Given the description of an element on the screen output the (x, y) to click on. 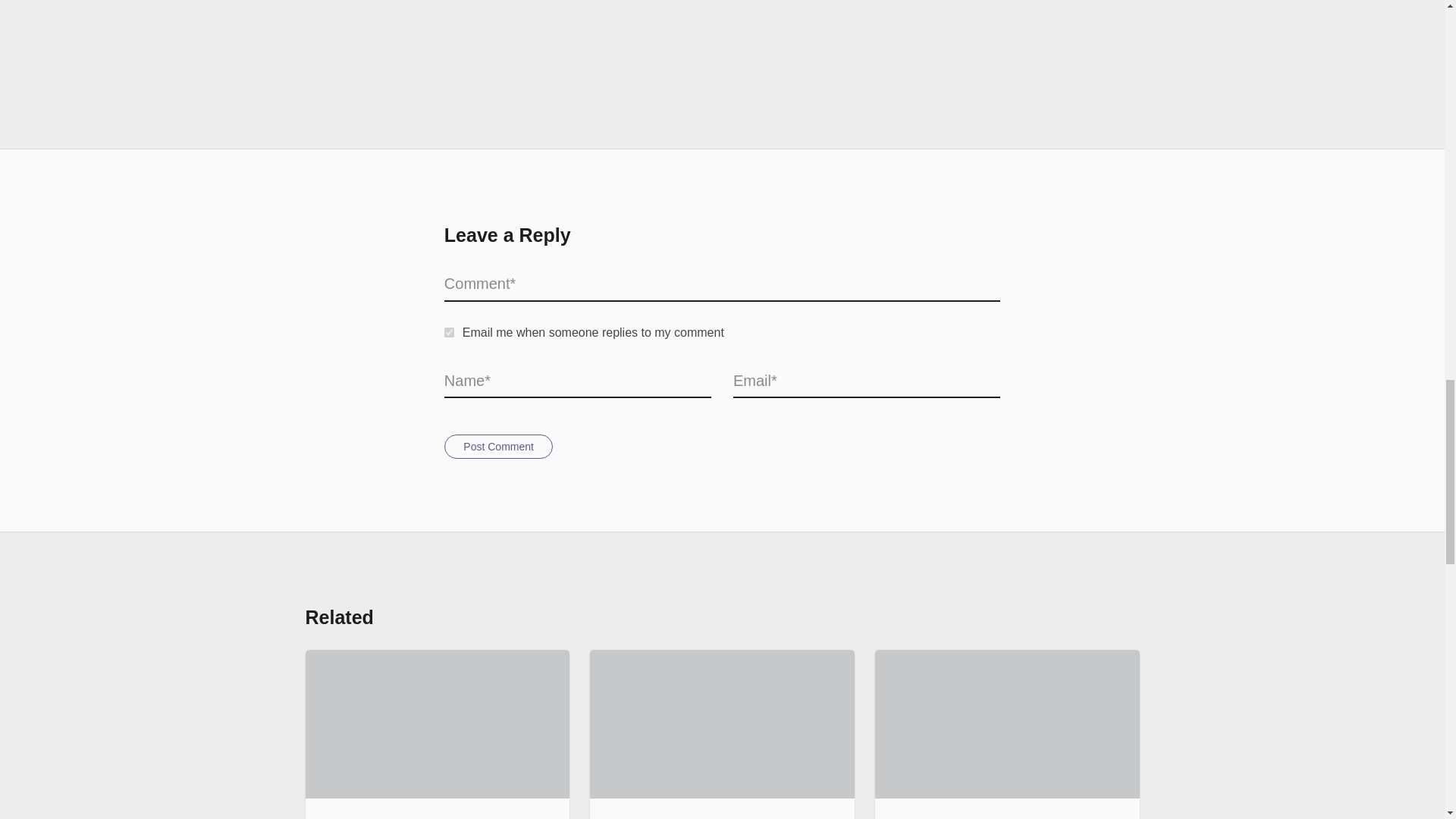
Continually Lifetime deal: Lead generation tool (1006, 724)
Gyana Lifetime Deal: No Code Data Analytics 6 (722, 34)
ApiX-Drive Lifetime Deal: Build API integration Without Code (436, 724)
FeedHive Lifetime Deal: Social Media Automation Tool (721, 724)
